Given the description of an element on the screen output the (x, y) to click on. 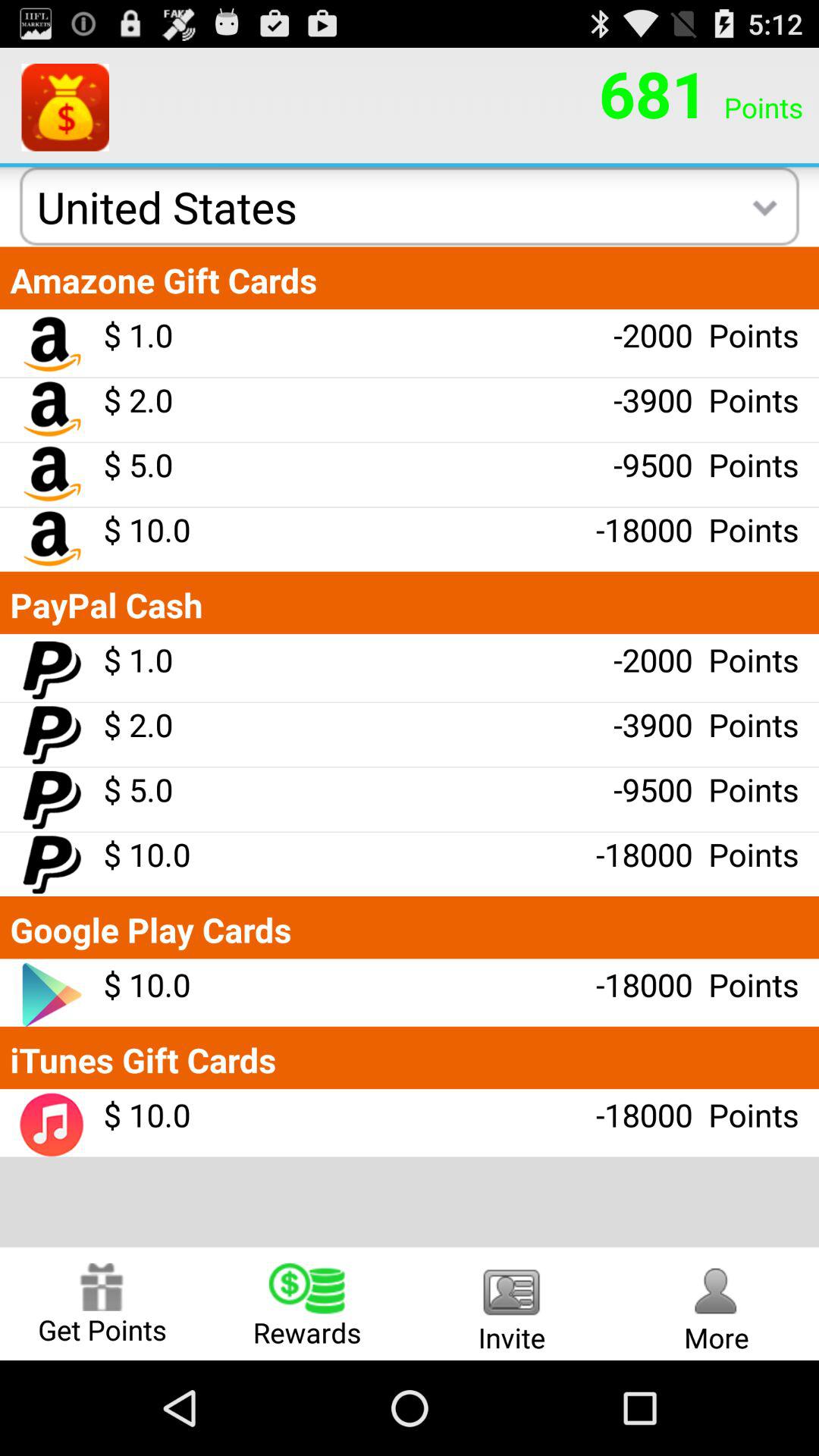
launch united states icon (166, 206)
